Given the description of an element on the screen output the (x, y) to click on. 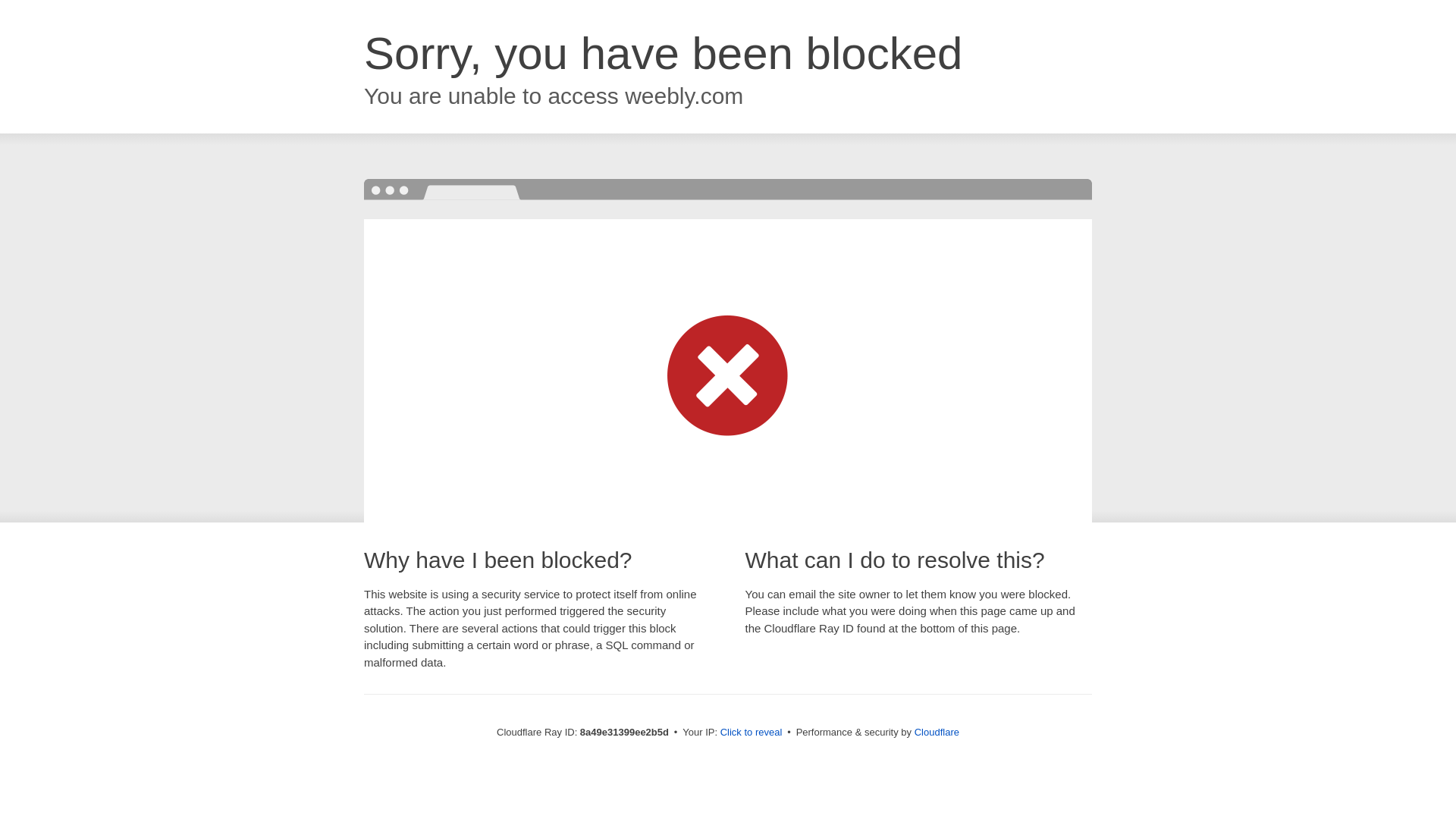
Cloudflare (936, 731)
Click to reveal (751, 732)
